Given the description of an element on the screen output the (x, y) to click on. 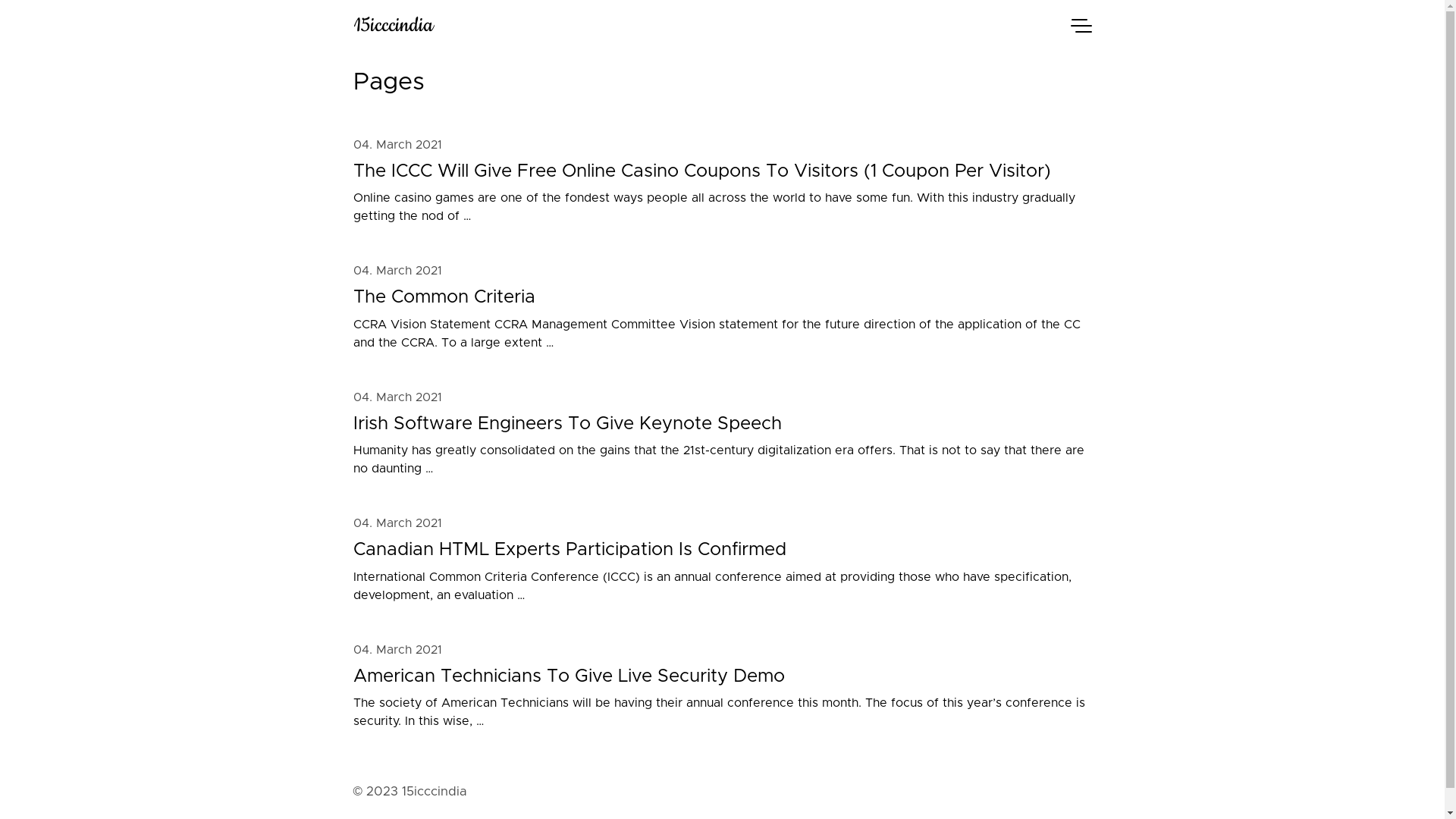
15icccindia Element type: text (701, 25)
